Given the description of an element on the screen output the (x, y) to click on. 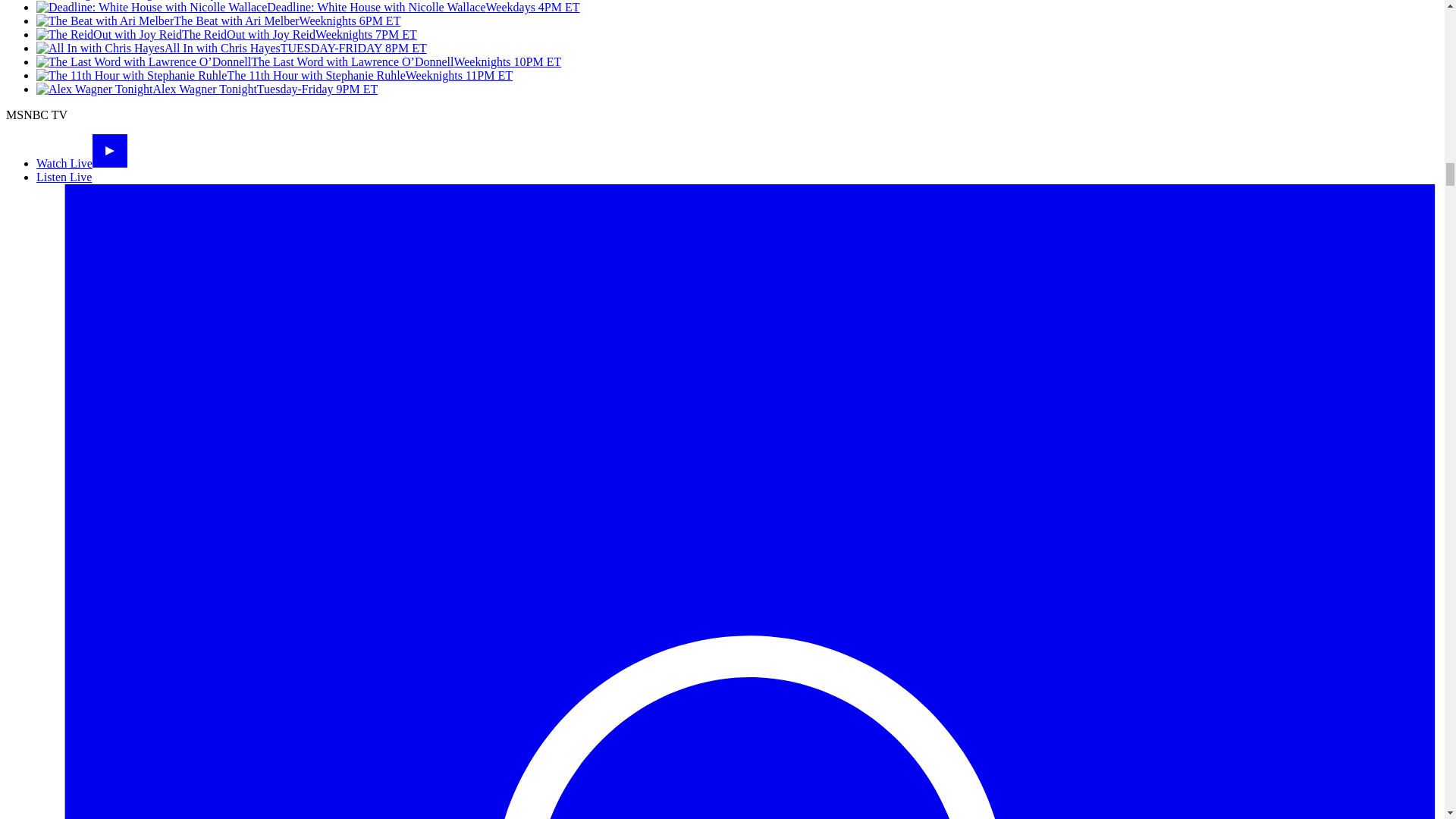
Watch Live (82, 163)
Alex Wagner TonightTuesday-Friday 9PM ET (206, 88)
The Beat with Ari MelberWeeknights 6PM ET (218, 20)
The ReidOut with Joy ReidWeeknights 7PM ET (226, 33)
The 11th Hour with Stephanie RuhleWeeknights 11PM ET (274, 74)
All In with Chris HayesTUESDAY-FRIDAY 8PM ET (231, 47)
Deadline: White House with Nicolle WallaceWeekdays 4PM ET (307, 6)
